Given the description of an element on the screen output the (x, y) to click on. 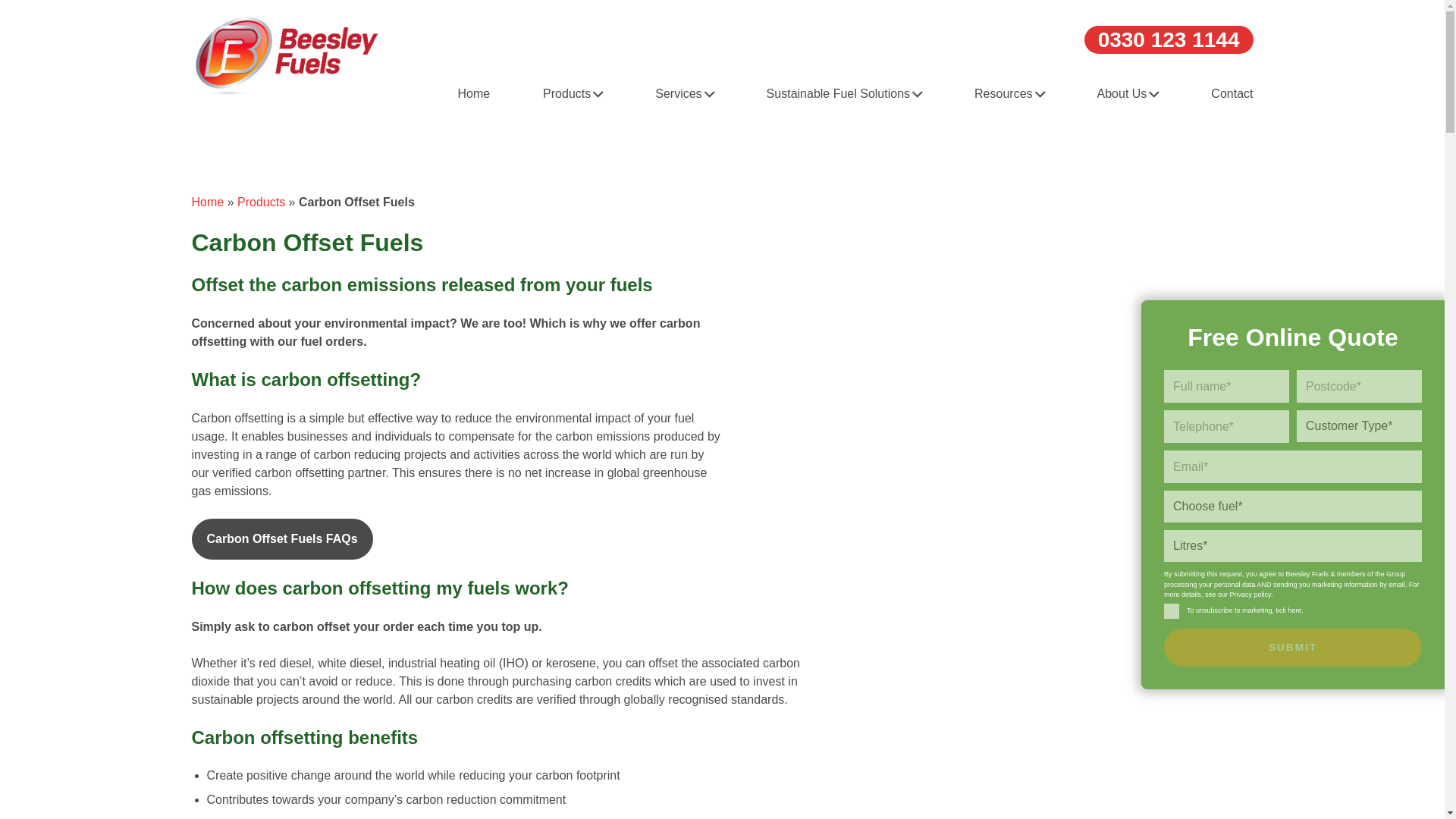
on (1171, 611)
Submit (1292, 647)
